Given the description of an element on the screen output the (x, y) to click on. 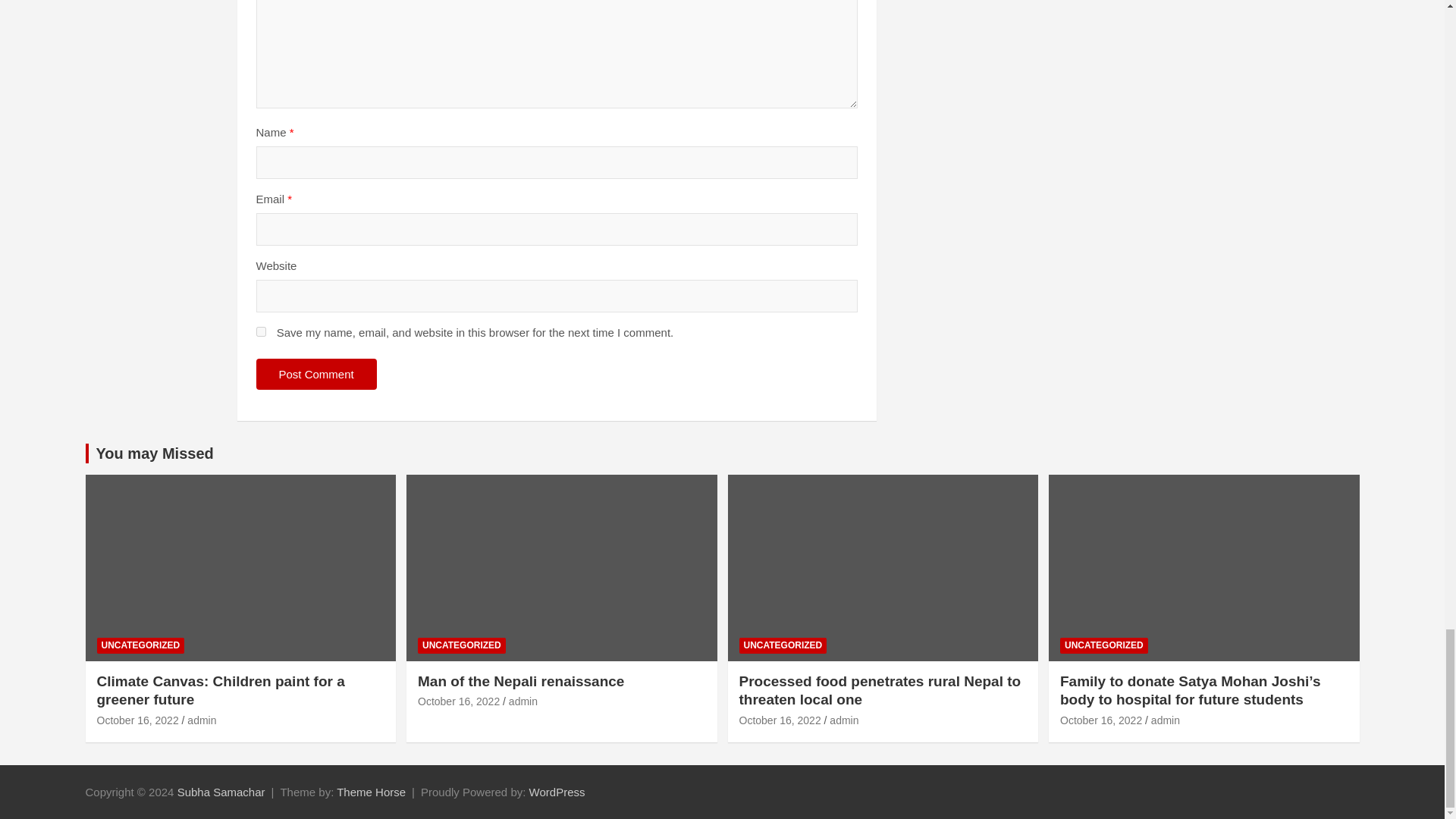
You may Missed (154, 453)
October 16, 2022 (458, 701)
WordPress (557, 791)
Climate Canvas: Children paint for a greener future (138, 720)
admin (522, 701)
admin (201, 720)
Climate Canvas: Children paint for a greener future (221, 690)
UNCATEGORIZED (782, 645)
Theme Horse (371, 791)
October 16, 2022 (138, 720)
Post Comment (316, 373)
Subha Samachar (220, 791)
UNCATEGORIZED (461, 645)
yes (261, 331)
Man of the Nepali renaissance (458, 701)
